Given the description of an element on the screen output the (x, y) to click on. 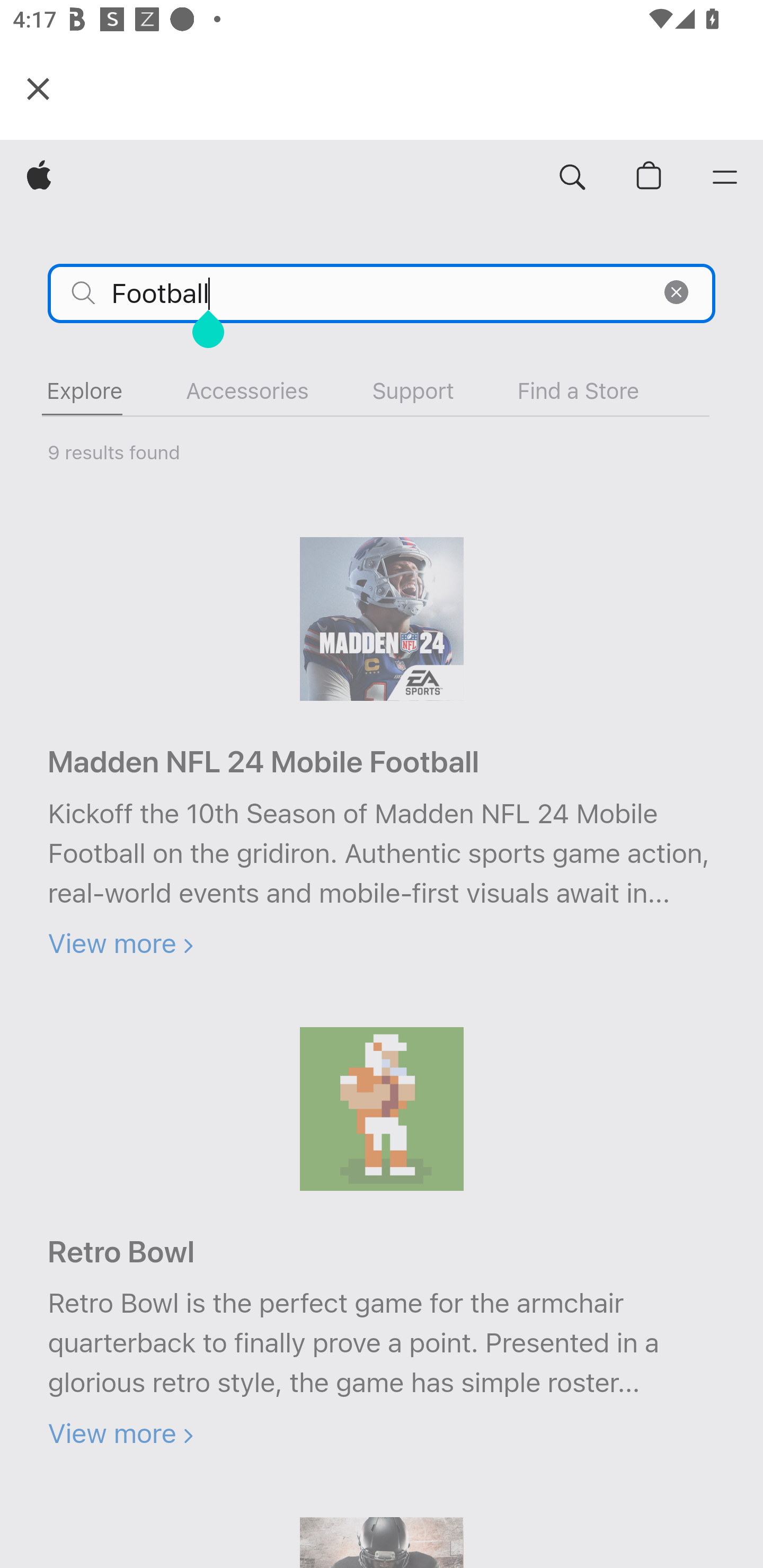
Close (38, 88)
Apple (38, 177)
Search apple.com (572, 177)
Shopping Bag (648, 177)
Menu (724, 177)
Football (381, 293)
Submit (83, 292)
Reset (676, 292)
Explore (83, 390)
Accessories (246, 390)
Support (413, 390)
Find a Store (577, 390)
View more View more  (120, 942)
Retro Bowl Retro Bowl Retro Bowl (121, 1251)
View more View more  (120, 1432)
